Given the description of an element on the screen output the (x, y) to click on. 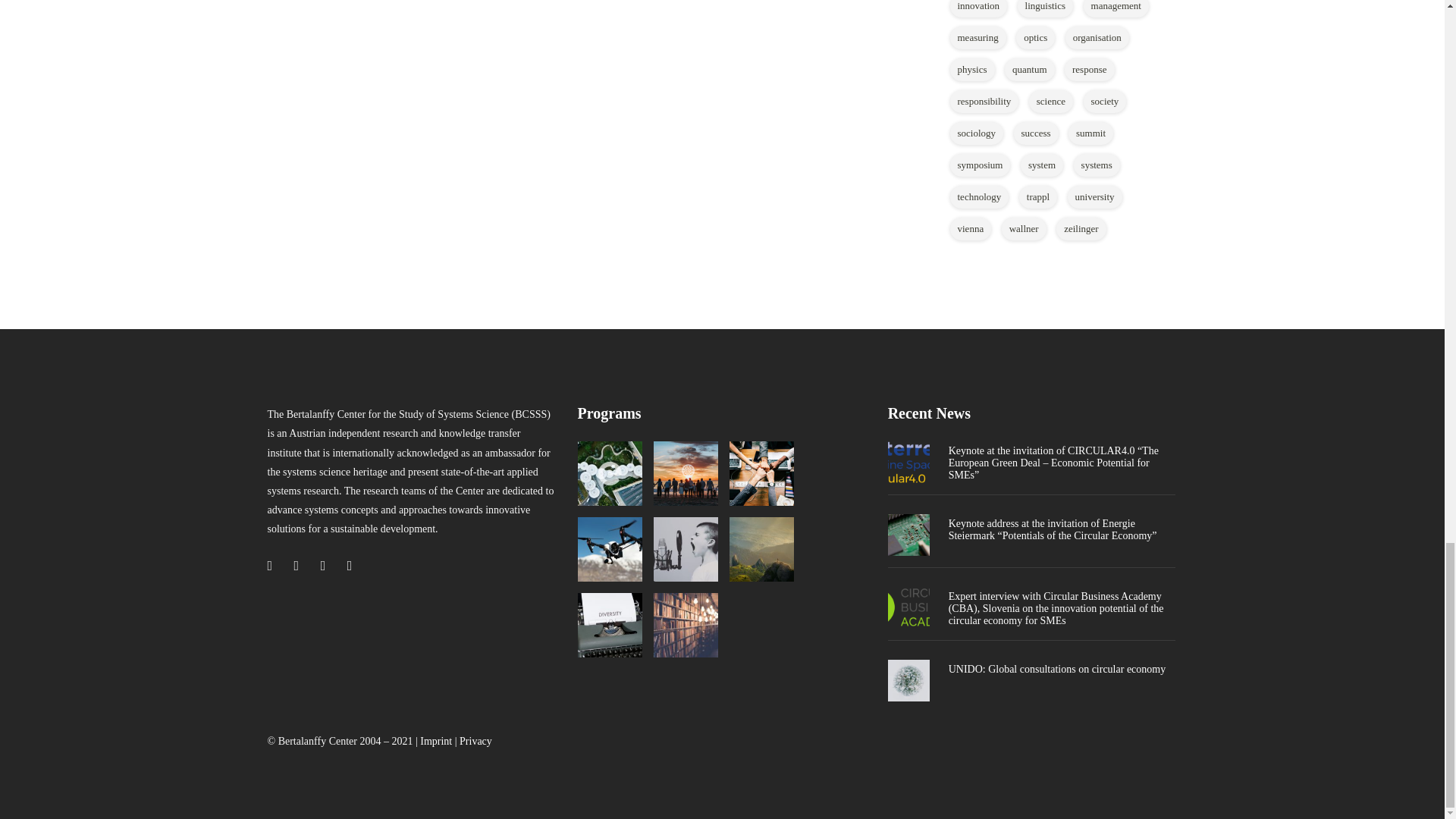
Circular Economy Forum Austria (610, 473)
Transdisciplinarity Lab (761, 473)
International Encyclopedia of Systems and Cybernetics (610, 624)
European Meetings on Cybernetics and Systems Research (610, 548)
Systems Philosophy Lab (761, 548)
Ecocivilisation (685, 473)
Young Scientists and Researcher Awards (685, 548)
